Given the description of an element on the screen output the (x, y) to click on. 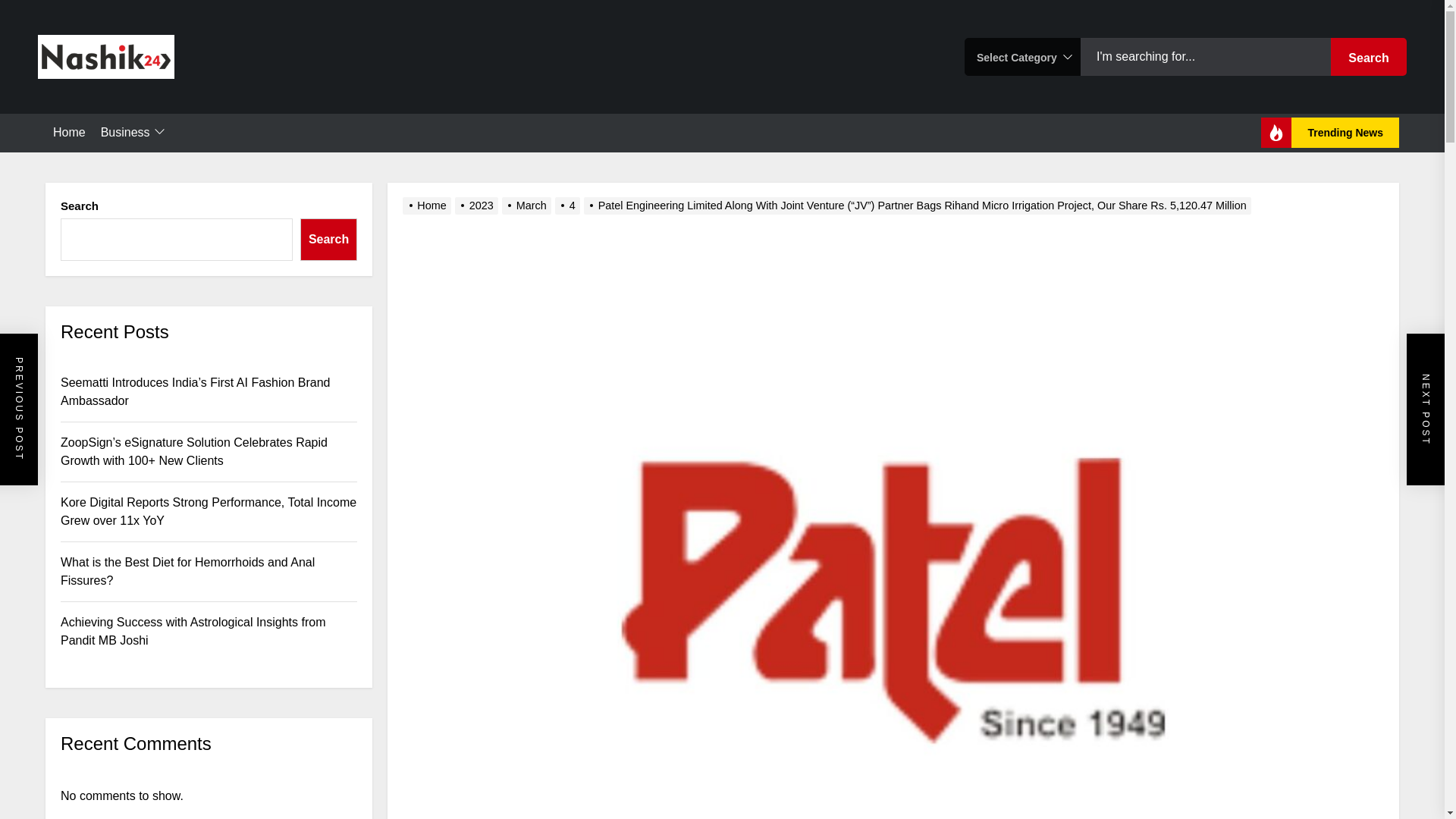
Search (1368, 56)
Home (68, 132)
Nashik 24 (122, 104)
Business (132, 132)
Trending News (1329, 132)
